Given the description of an element on the screen output the (x, y) to click on. 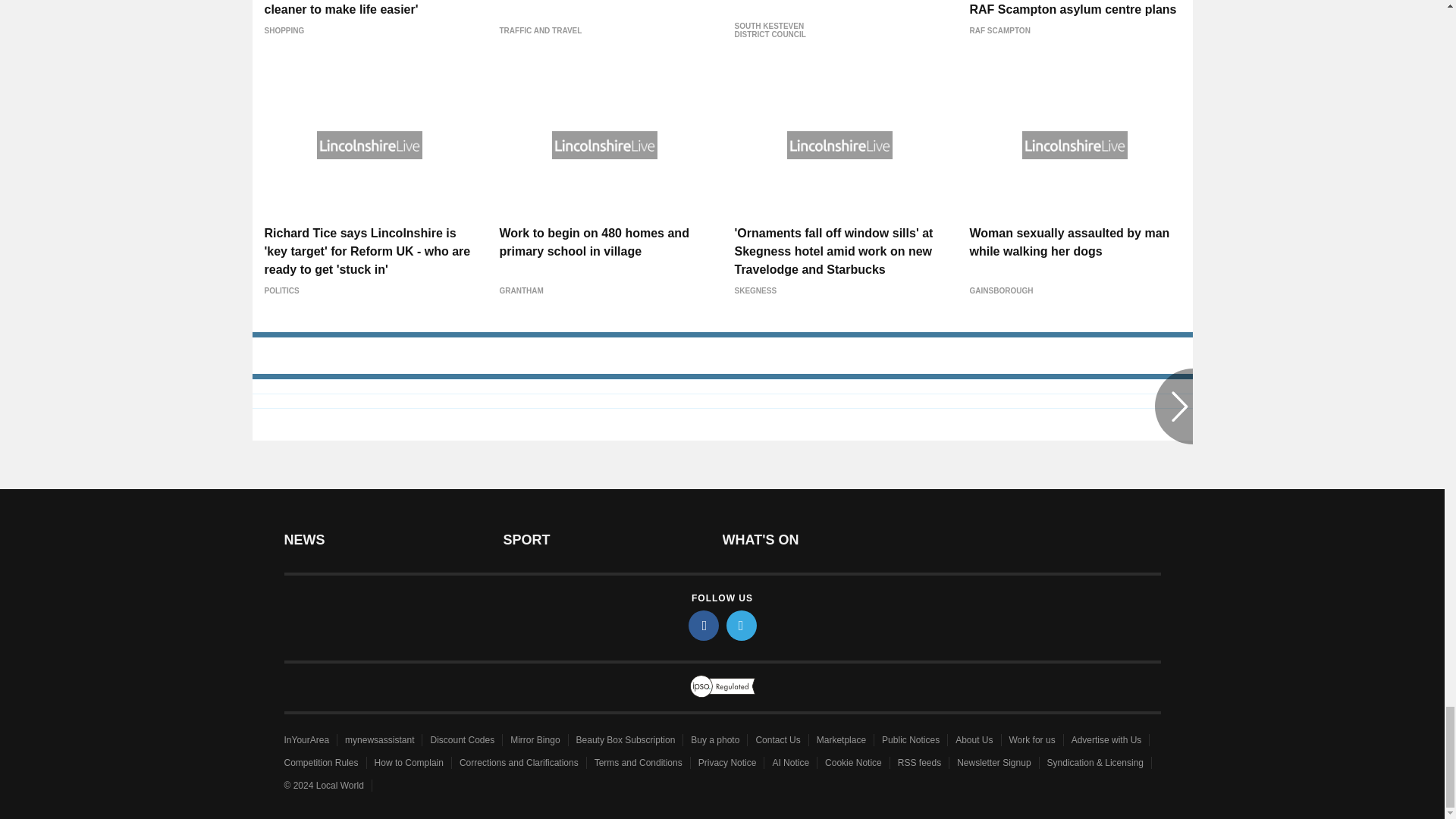
facebook (703, 625)
twitter (741, 625)
